Given the description of an element on the screen output the (x, y) to click on. 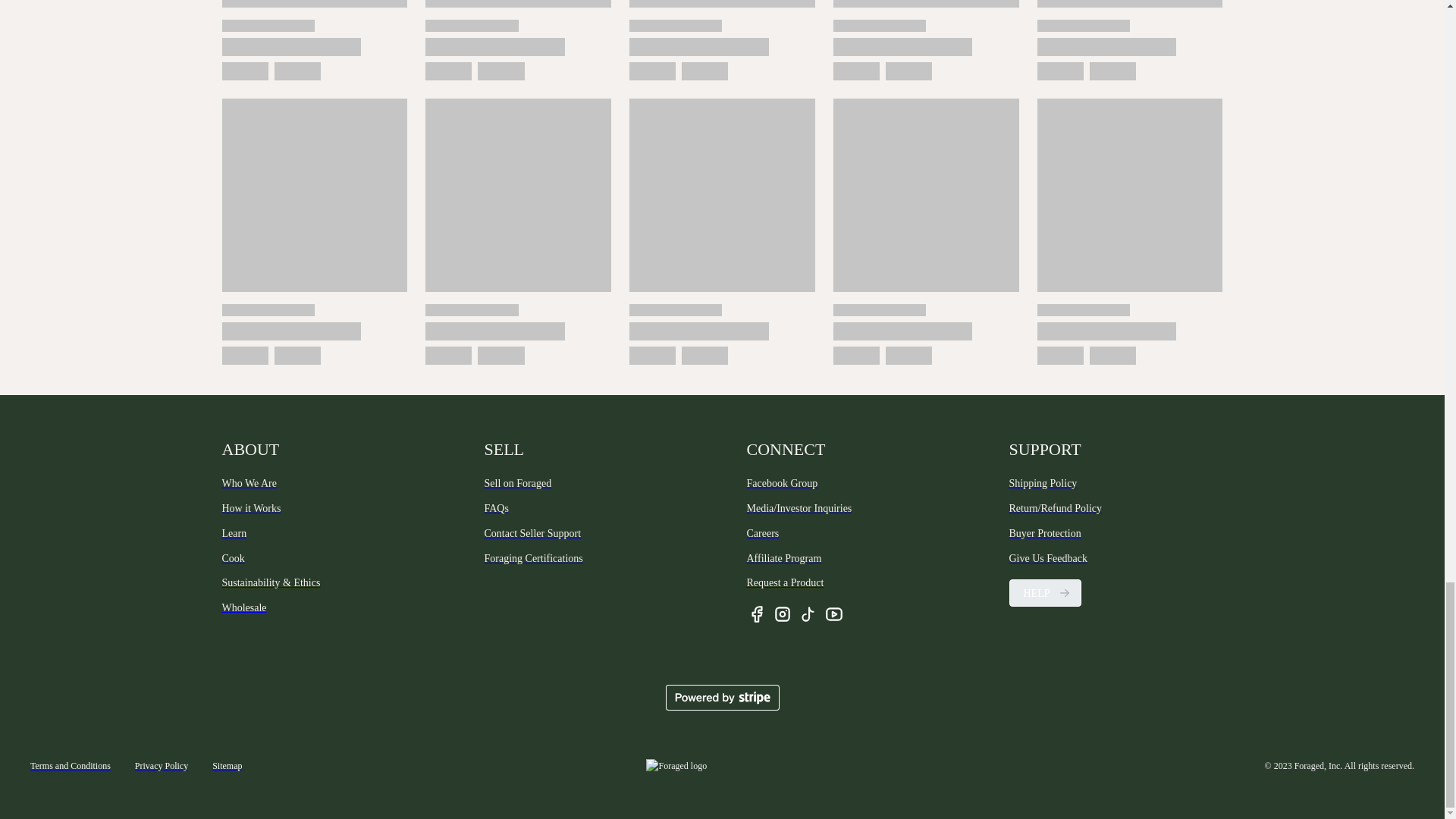
Learn (328, 533)
FAQs (590, 507)
How it Works (328, 507)
Sell on Foraged (590, 483)
Facebook Group (852, 483)
Who We Are (328, 483)
Wholesale (328, 607)
Contact Seller Support (590, 533)
Cook (328, 558)
Foraging Certifications (590, 558)
